Given the description of an element on the screen output the (x, y) to click on. 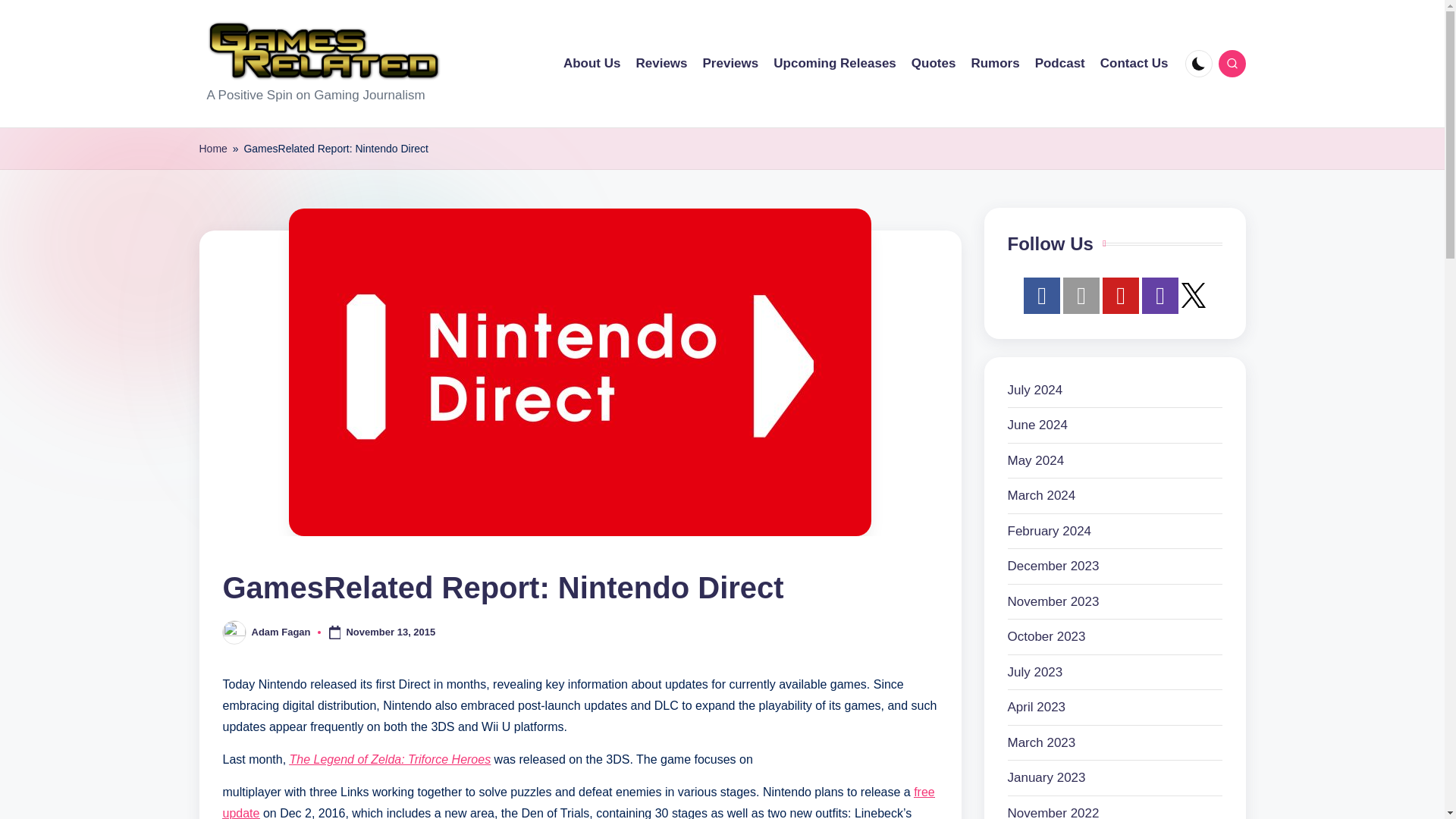
Rumors (995, 63)
Adam Fagan (281, 632)
View all posts by Adam Fagan (281, 632)
The Legend of Zelda: Triforce Heroes (390, 758)
About Us (592, 63)
Contact Us (1134, 63)
join-us-on-discord (1080, 295)
Previews (730, 63)
Upcoming Releases (834, 63)
follow-us-on-facebook (1041, 295)
